Given the description of an element on the screen output the (x, y) to click on. 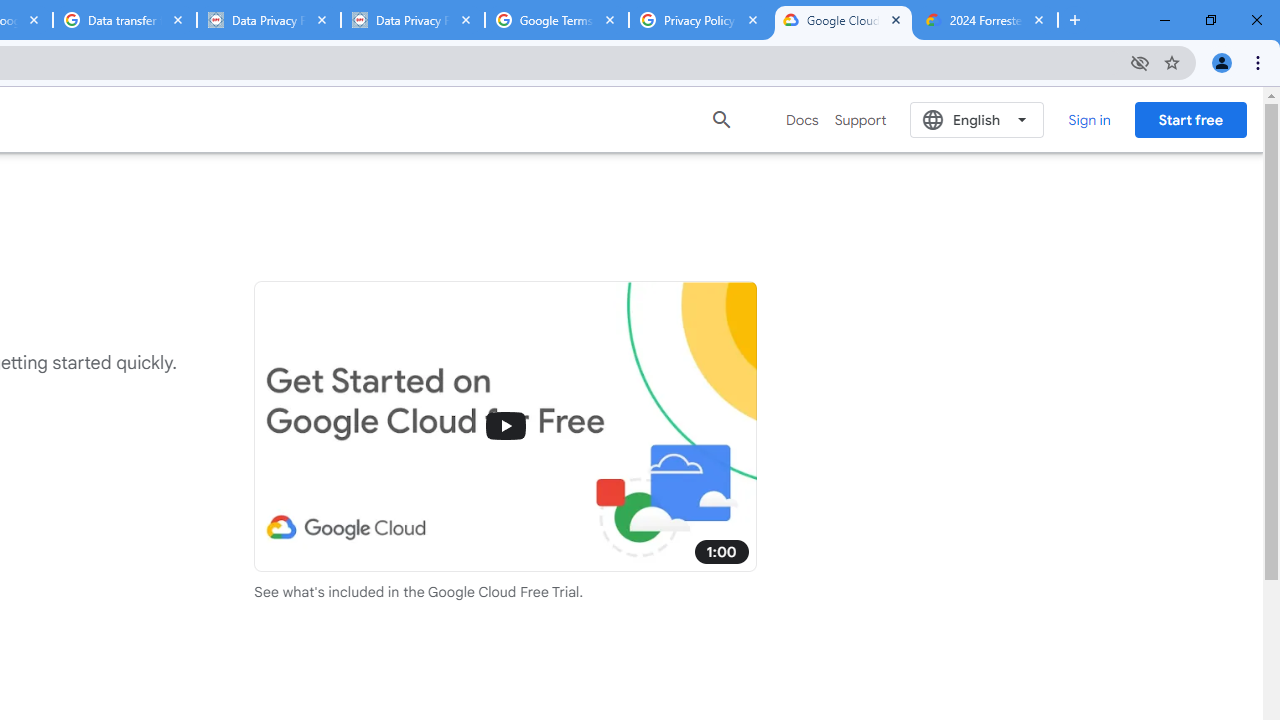
Support (860, 119)
Data Privacy Framework (268, 20)
Google Cloud Free Trial FAQs | Google Cloud (843, 20)
Docs (802, 119)
Data Privacy Framework (412, 20)
